Given the description of an element on the screen output the (x, y) to click on. 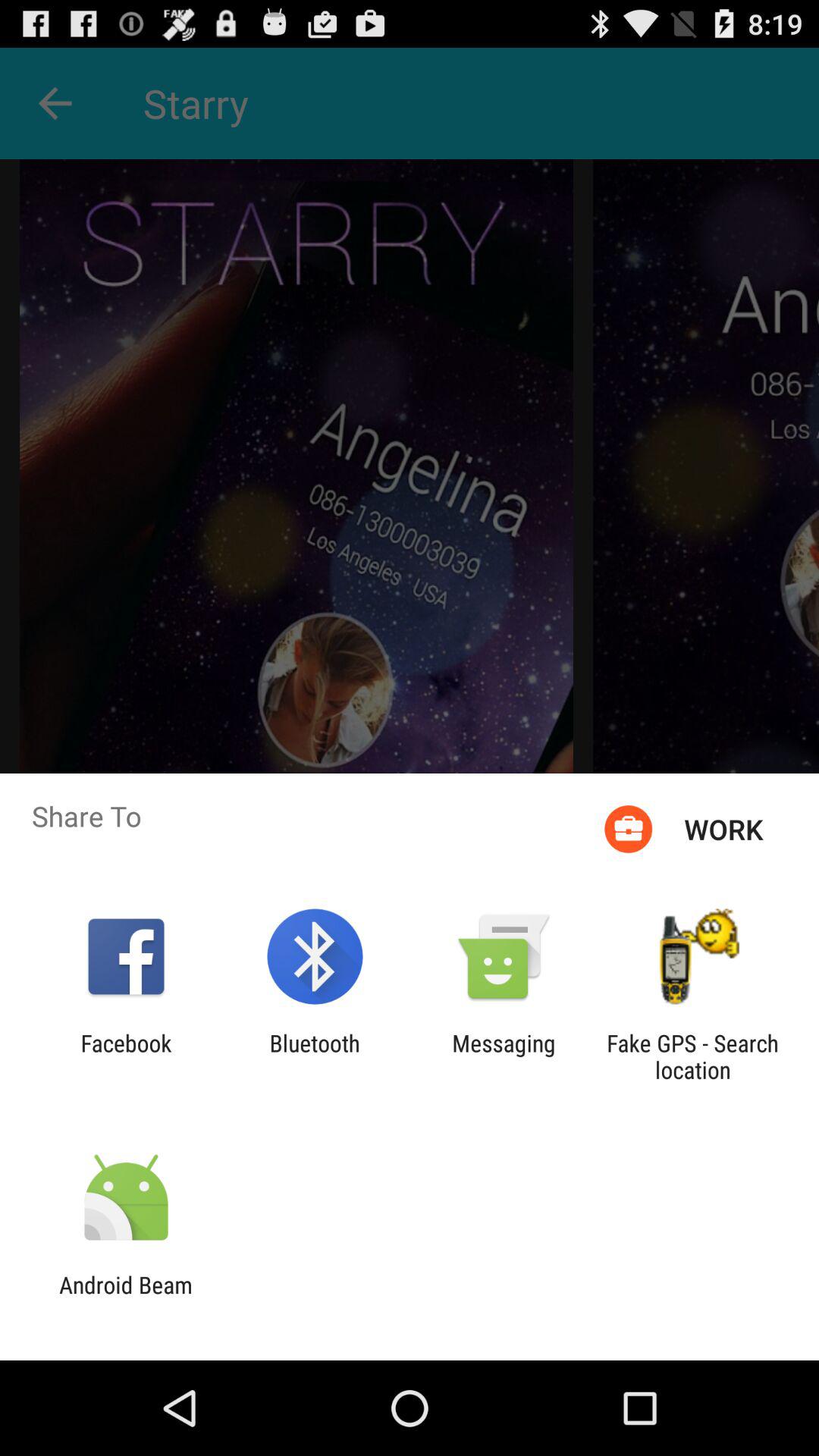
launch icon next to the messaging (314, 1056)
